Given the description of an element on the screen output the (x, y) to click on. 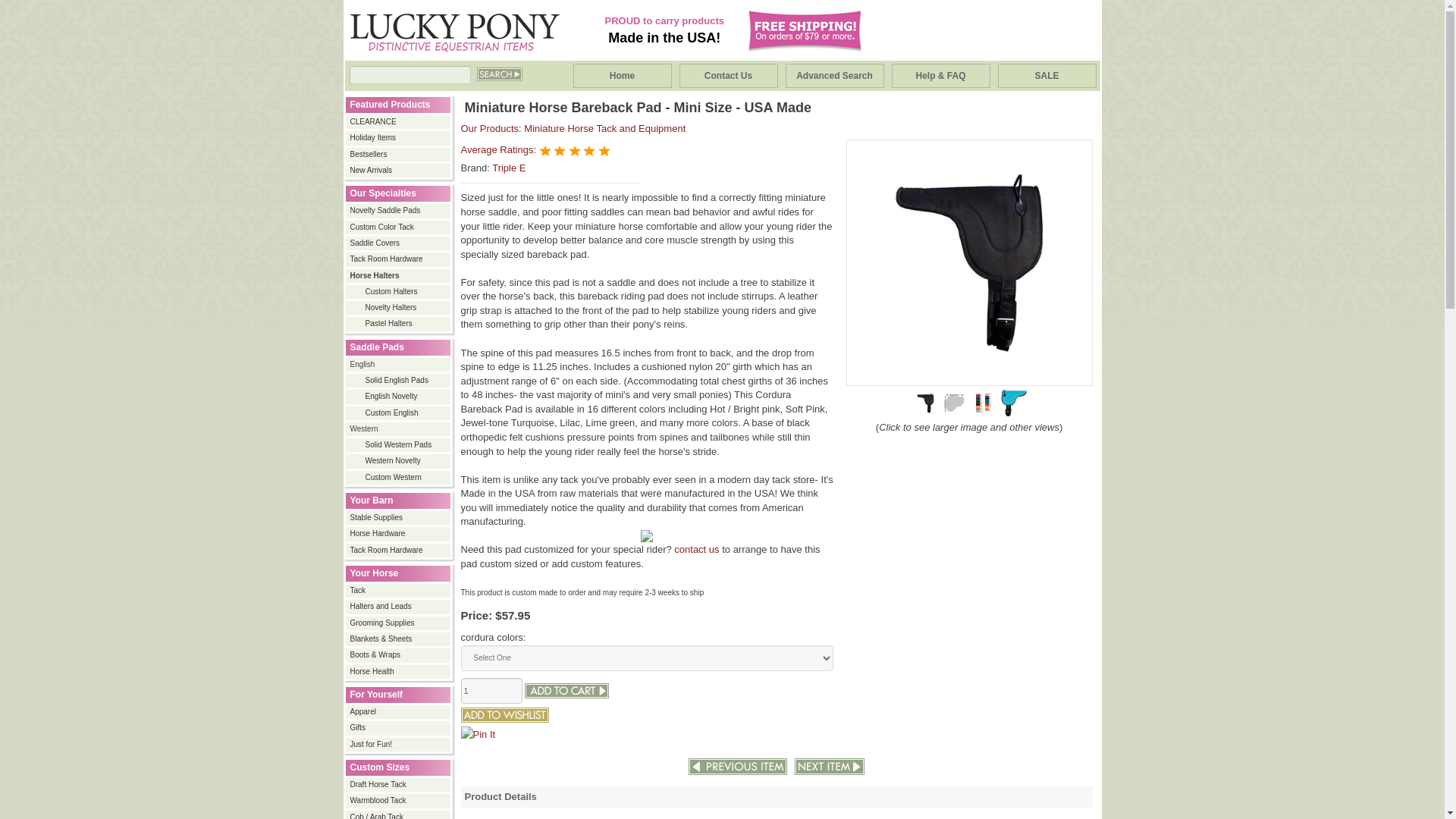
Just for Fun! (399, 744)
Gifts (399, 727)
Halters and Leads (399, 606)
Pin It (478, 734)
Grooming Supplies (399, 623)
Bestsellers (399, 154)
Custom English (399, 412)
Custom Color Tack (399, 226)
Novelty Saddle Pads (399, 210)
English Novelty (399, 396)
Custom Halters (399, 291)
Horse Hardware (399, 533)
Western Novelty (399, 460)
Tack (399, 590)
Custom Western (399, 477)
